Given the description of an element on the screen output the (x, y) to click on. 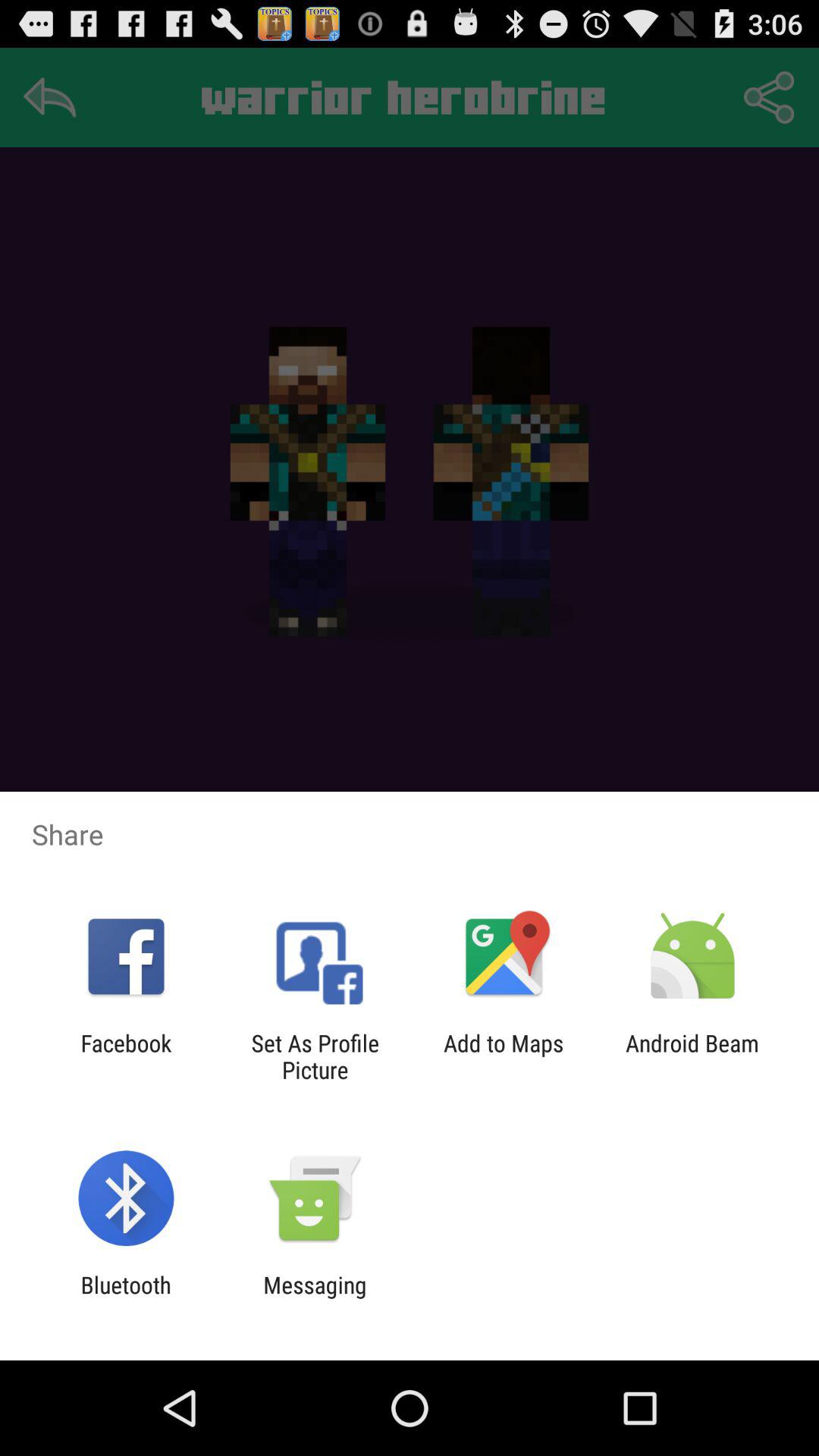
tap the bluetooth (125, 1298)
